Given the description of an element on the screen output the (x, y) to click on. 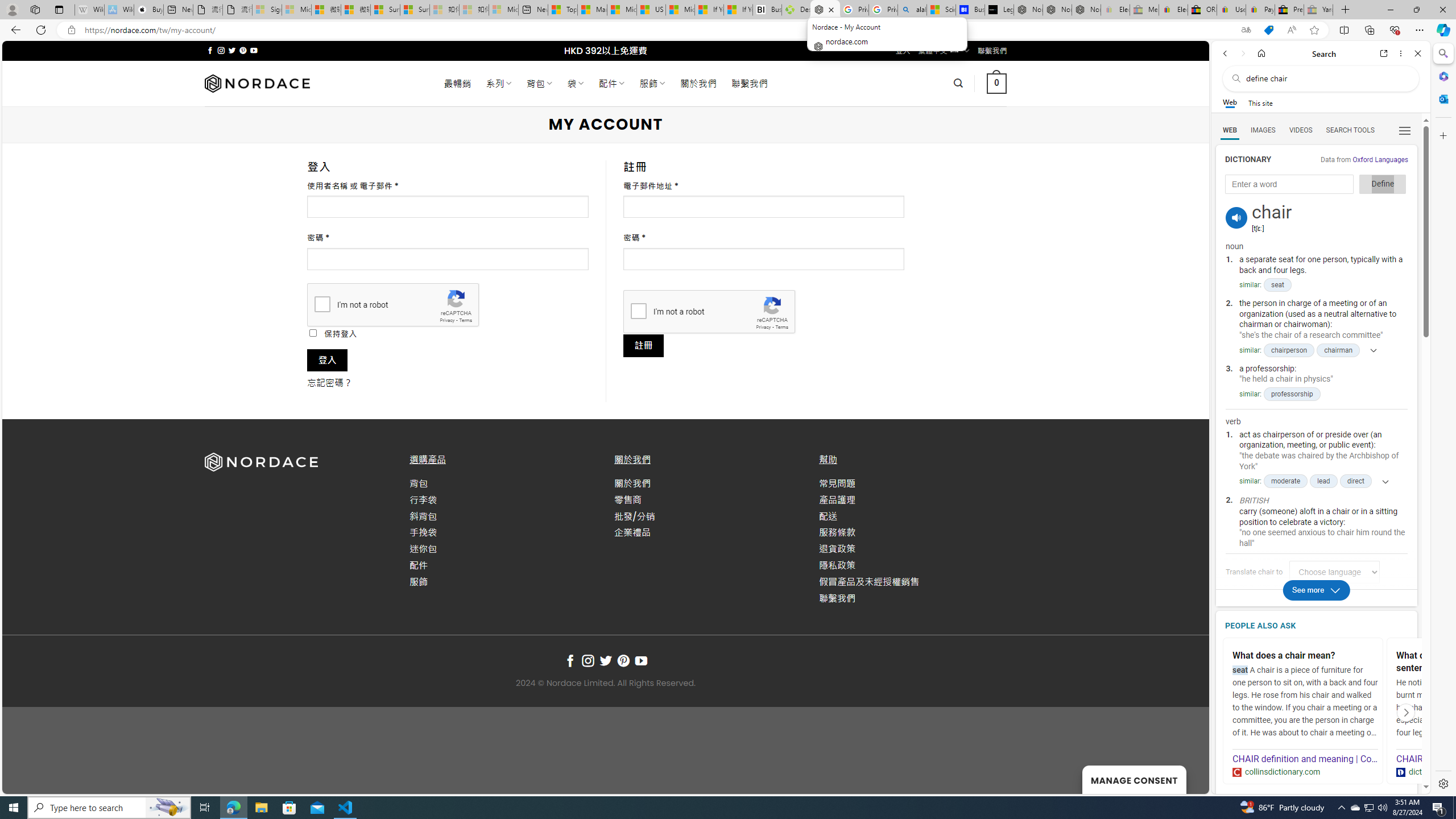
Nordace - My Account (825, 9)
